Given the description of an element on the screen output the (x, y) to click on. 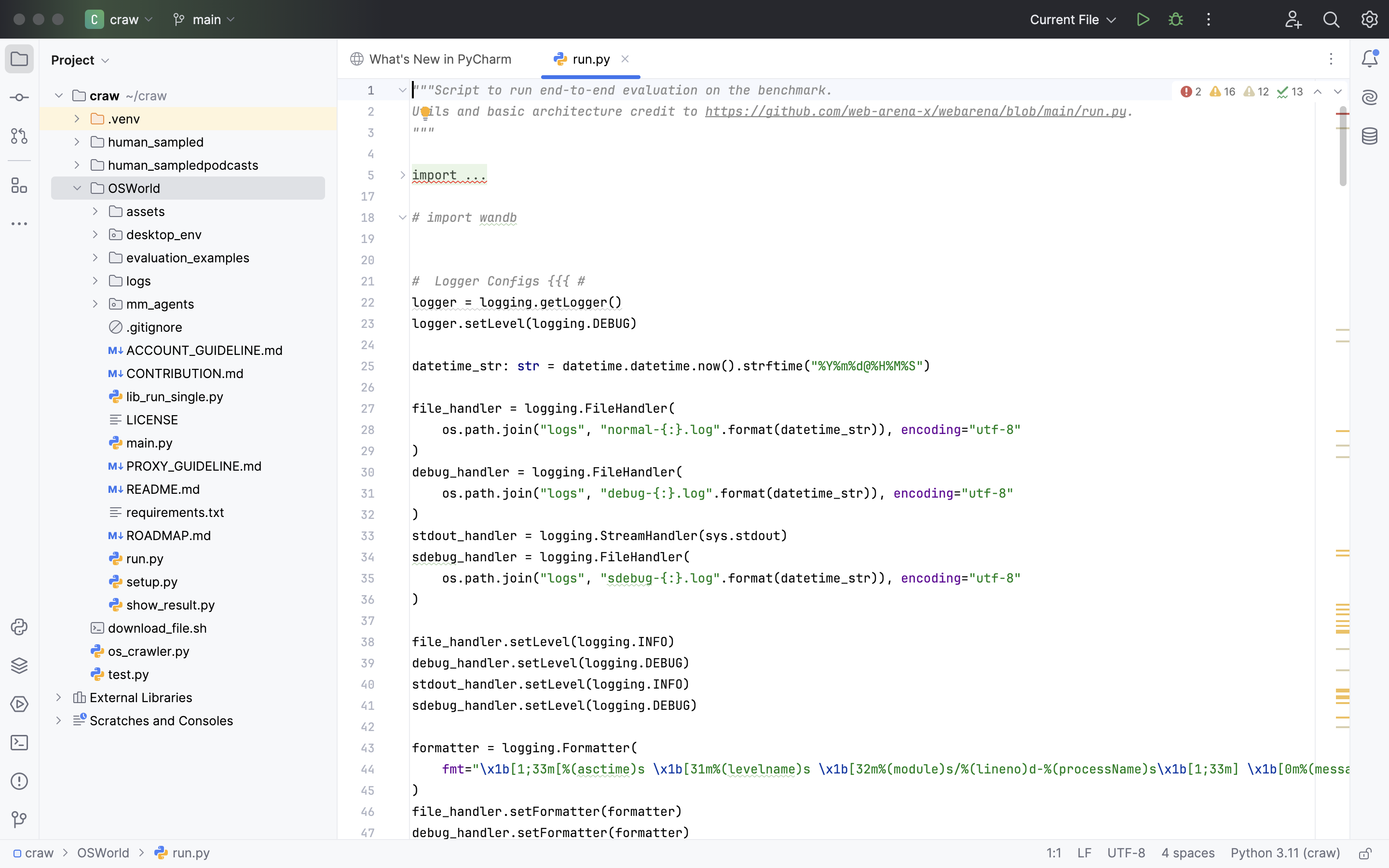
mm_agents Element type: AXStaticText (151, 303)
2 Element type: AXStaticText (1189, 91)
1:1 Element type: AXStaticText (1053, 854)
LF Element type: AXStaticText (1084, 854)
README.md Element type: AXStaticText (154, 488)
